Given the description of an element on the screen output the (x, y) to click on. 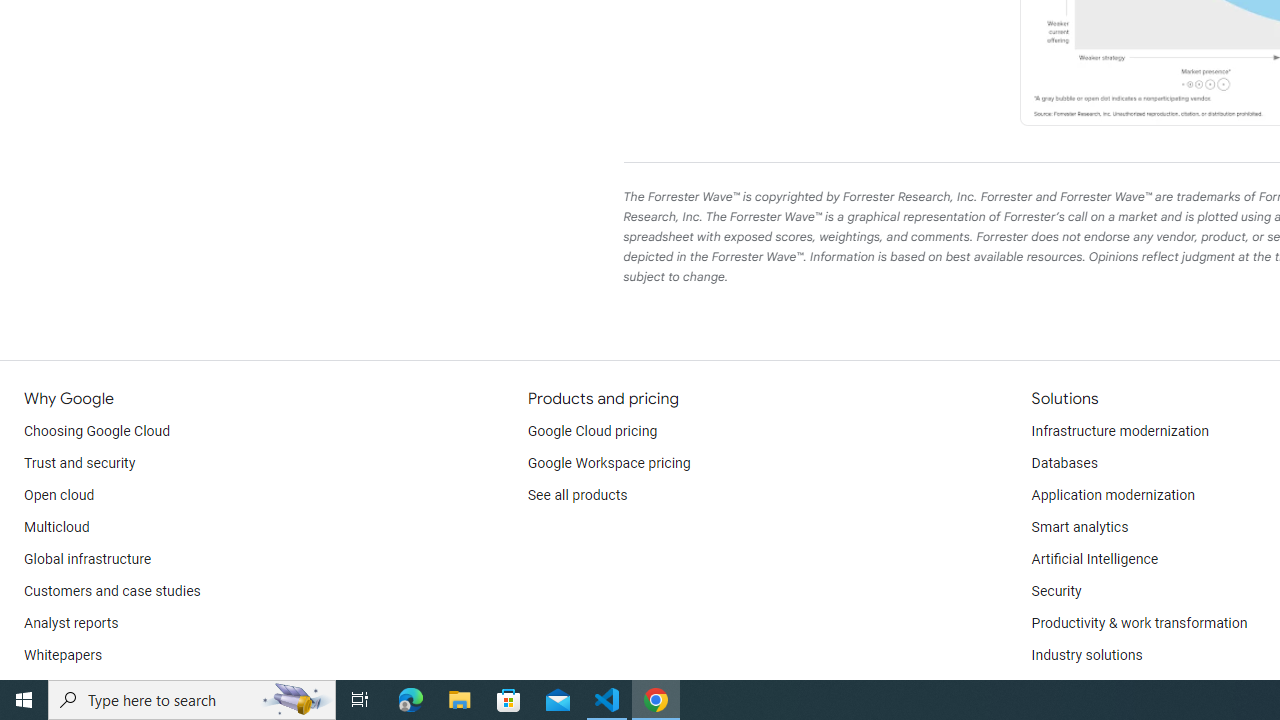
Google Cloud pricing (592, 431)
Industry solutions (1086, 655)
Google Workspace pricing (609, 463)
Application modernization (1112, 495)
DevOps solutions (1085, 687)
Multicloud (56, 527)
Artificial Intelligence (1094, 560)
Databases (1064, 463)
Trust and security (79, 463)
See all products (577, 495)
Customers and case studies (112, 591)
Blog (38, 687)
Open cloud (59, 495)
Productivity & work transformation (1139, 623)
